Given the description of an element on the screen output the (x, y) to click on. 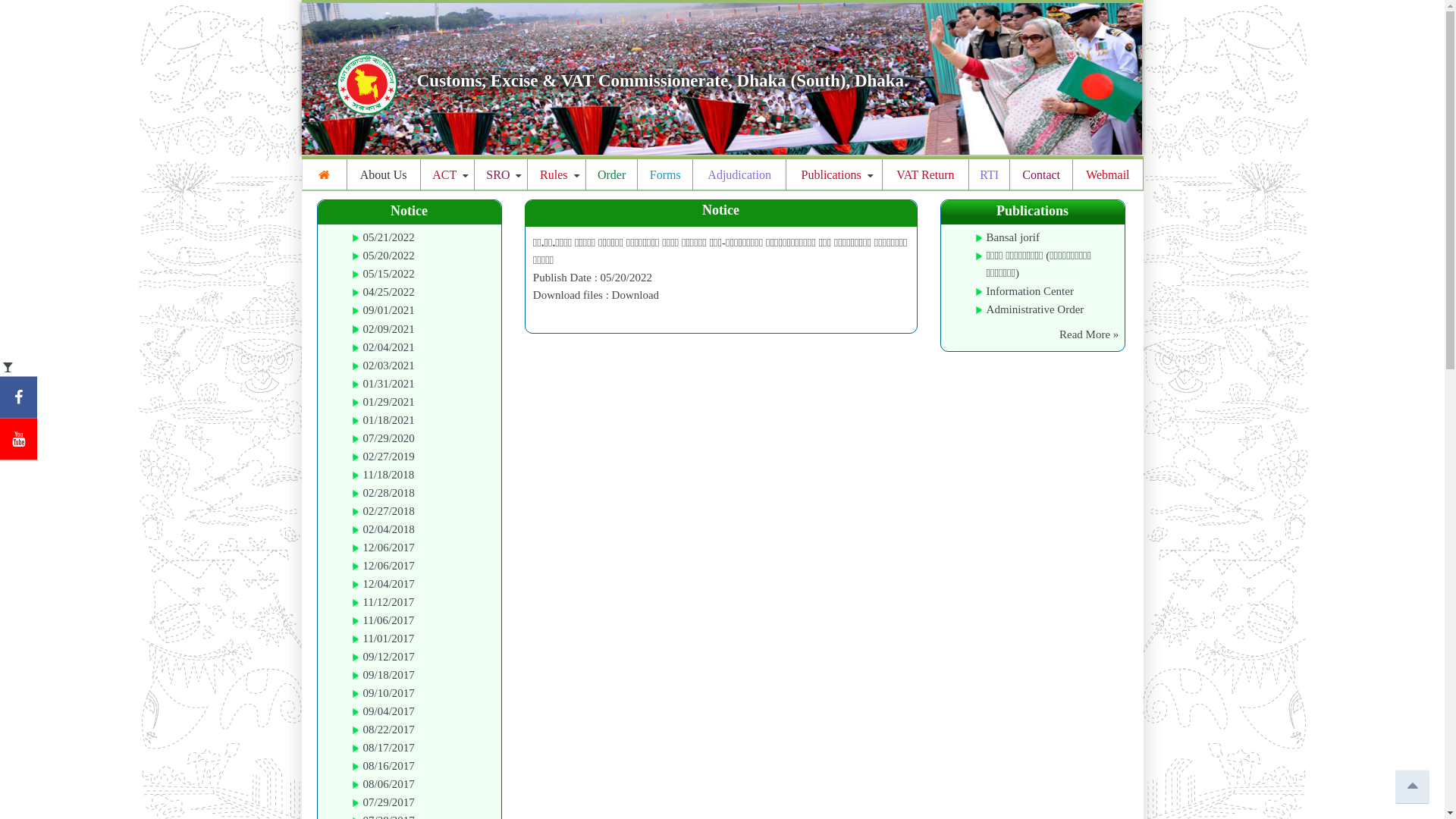
Download Element type: text (635, 294)
09/04/2017 Element type: text (388, 711)
09/12/2017 Element type: text (388, 656)
08/22/2017 Element type: text (388, 729)
02/28/2018 Element type: text (388, 492)
12/04/2017 Element type: text (388, 583)
11/12/2017 Element type: text (388, 602)
Bansal jorif Element type: text (1012, 237)
11/06/2017 Element type: text (388, 620)
02/27/2019 Element type: text (388, 456)
Contact Element type: text (1041, 174)
02/27/2018 Element type: text (388, 511)
05/20/2022 Element type: text (388, 255)
12/06/2017 Element type: text (388, 547)
01/18/2021 Element type: text (388, 420)
09/10/2017 Element type: text (388, 693)
02/04/2018 Element type: text (388, 529)
08/16/2017 Element type: text (388, 765)
RTI Element type: text (989, 174)
05/21/2022 Element type: text (388, 237)
Adjudication Element type: text (739, 174)
05/15/2022 Element type: text (388, 273)
Forms Element type: text (664, 174)
About Us Element type: text (383, 174)
07/29/2020 Element type: text (388, 438)
02/03/2021 Element type: text (388, 365)
Webmail Element type: text (1107, 174)
Order Element type: text (611, 174)
VAT Return Element type: text (925, 174)
01/29/2021 Element type: text (388, 401)
08/17/2017 Element type: text (388, 747)
02/04/2021 Element type: text (388, 347)
09/18/2017 Element type: text (388, 674)
02/09/2021 Element type: text (388, 329)
07/29/2017 Element type: text (388, 802)
11/01/2017 Element type: text (388, 638)
08/06/2017 Element type: text (388, 784)
12/06/2017 Element type: text (388, 565)
Information Center Element type: text (1029, 291)
Administrative Order Element type: text (1035, 309)
test Element type: hover (721, 78)
01/31/2021 Element type: text (388, 383)
09/01/2021 Element type: text (388, 310)
04/25/2022 Element type: text (388, 291)
11/18/2018 Element type: text (388, 474)
